Given the description of an element on the screen output the (x, y) to click on. 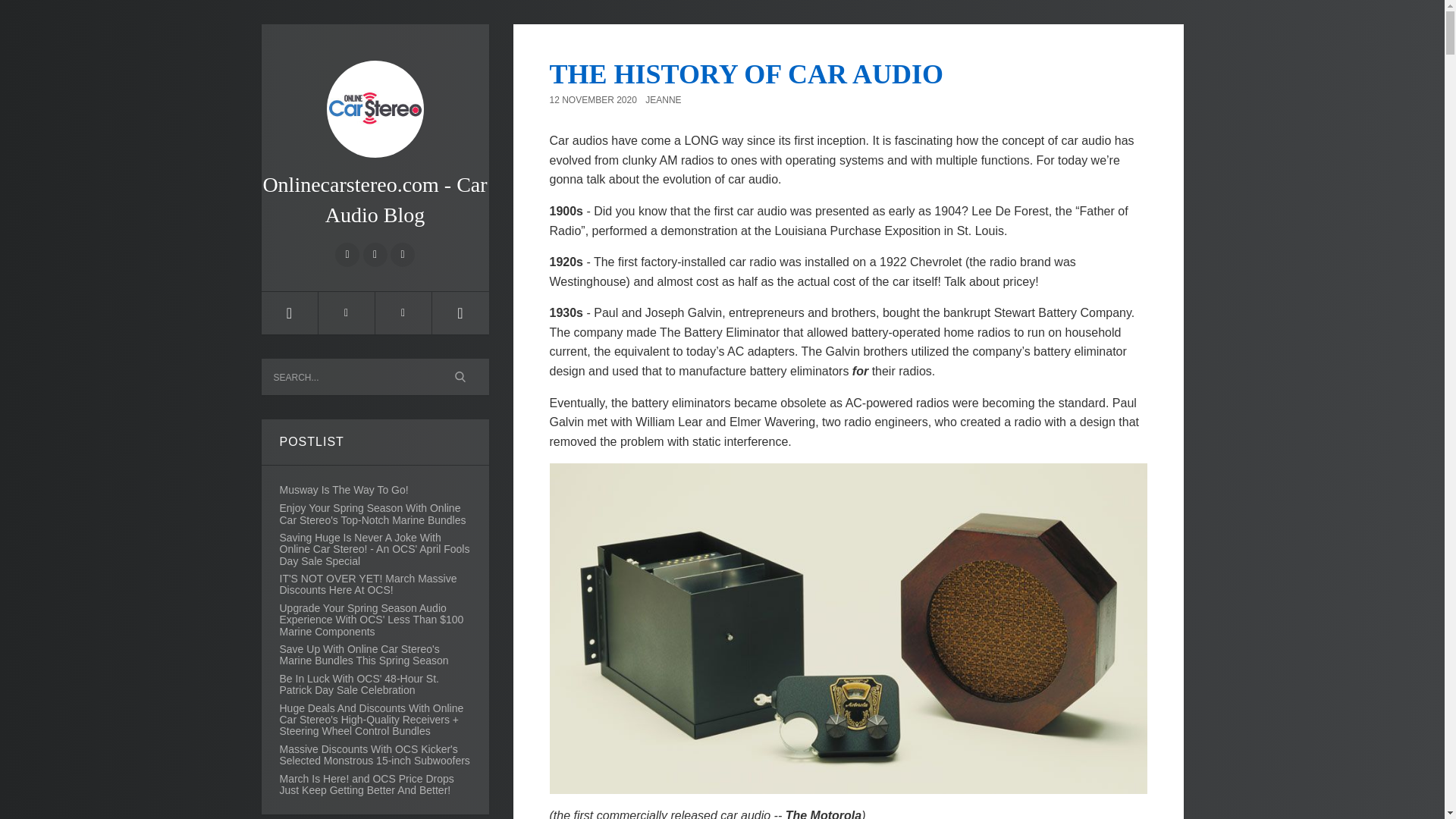
Search (460, 376)
Musway Is The Way To Go! (343, 489)
IT'S NOT OVER YET! March Massive Discounts Here At OCS! (374, 584)
Onlinecarstereo.com - Car Audio Blog (373, 133)
